Given the description of an element on the screen output the (x, y) to click on. 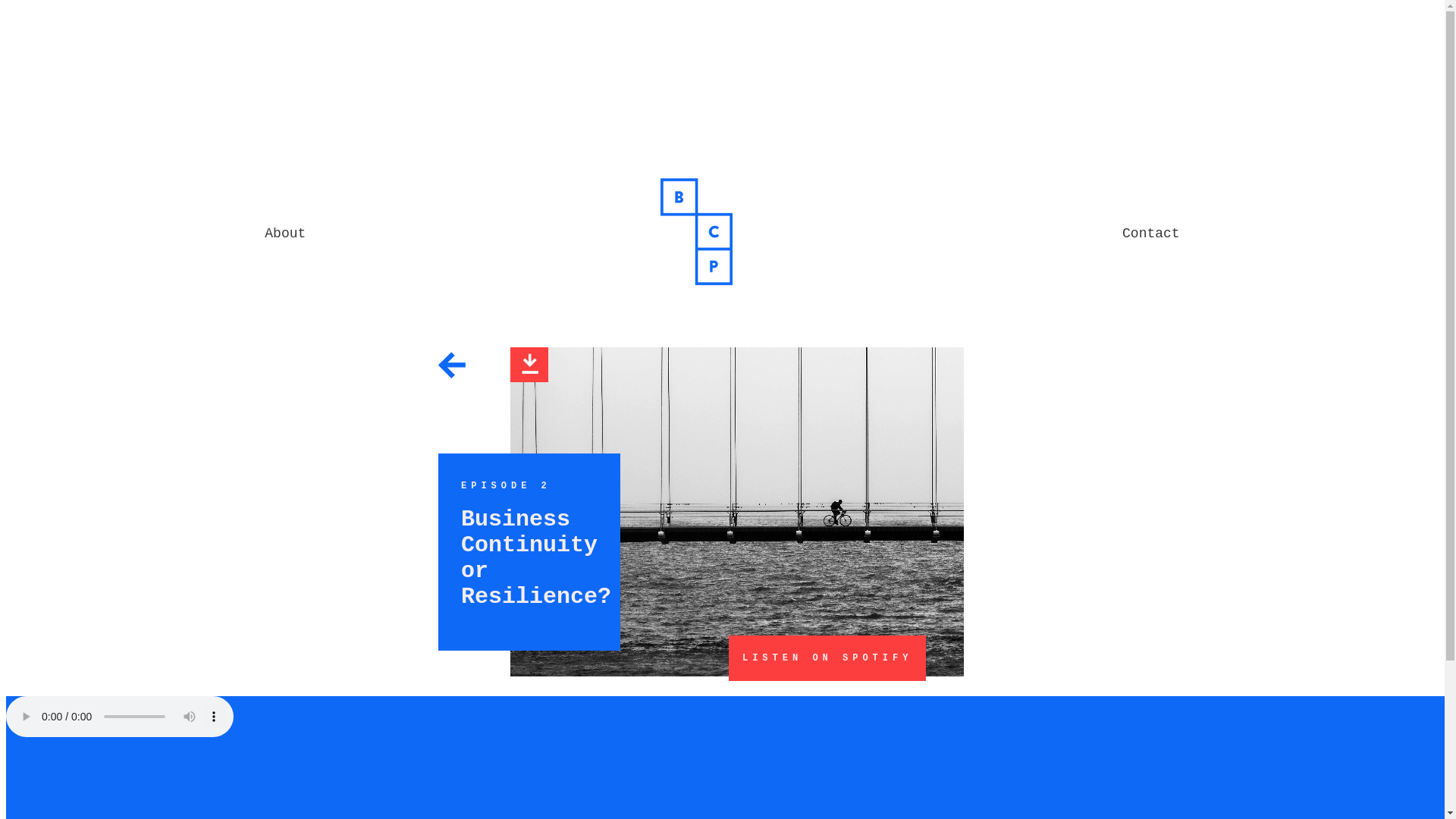
LISTEN ON SPOTIFY (827, 657)
Contact (1150, 233)
About (284, 233)
